Given the description of an element on the screen output the (x, y) to click on. 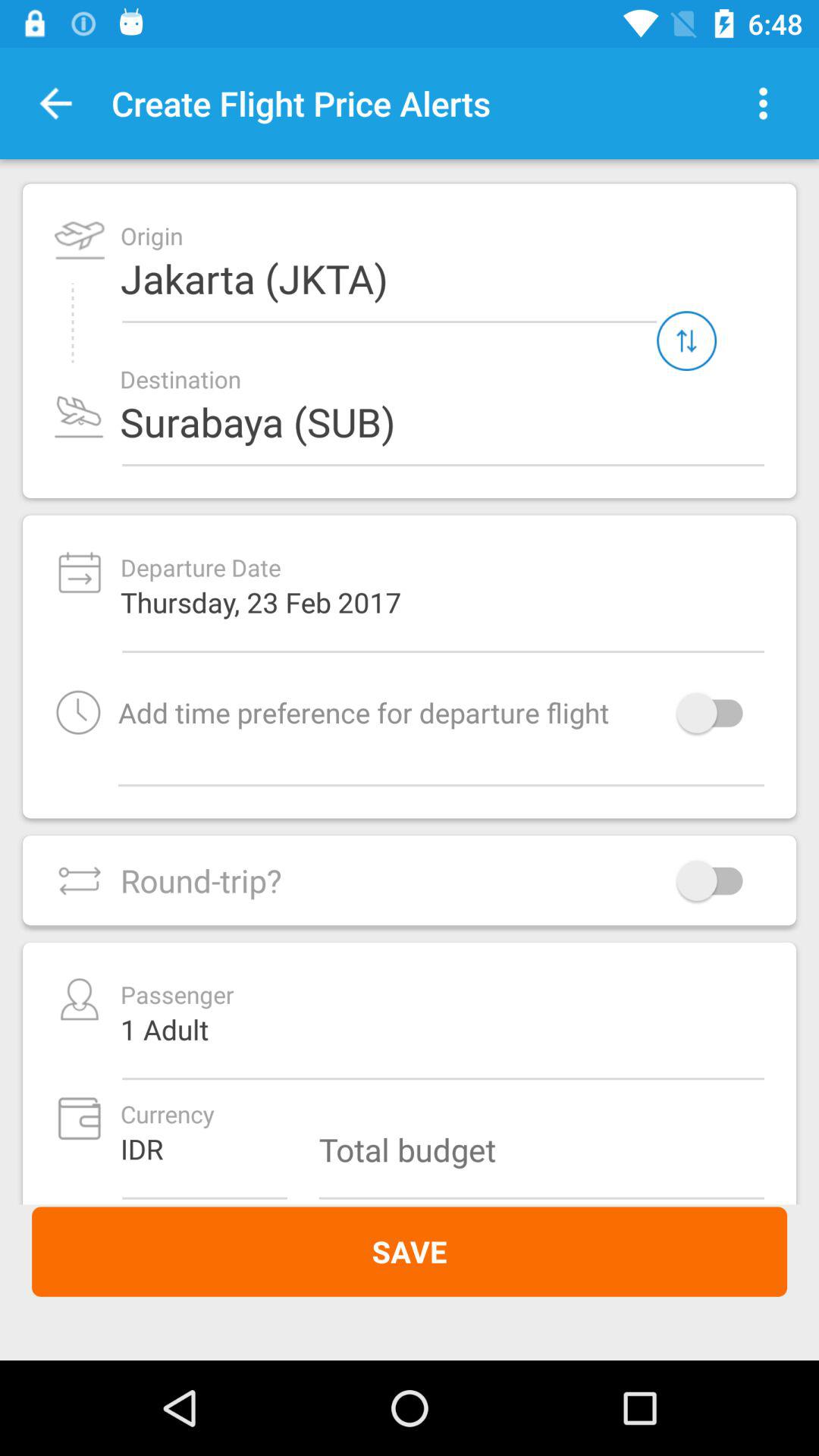
setting (763, 103)
